Given the description of an element on the screen output the (x, y) to click on. 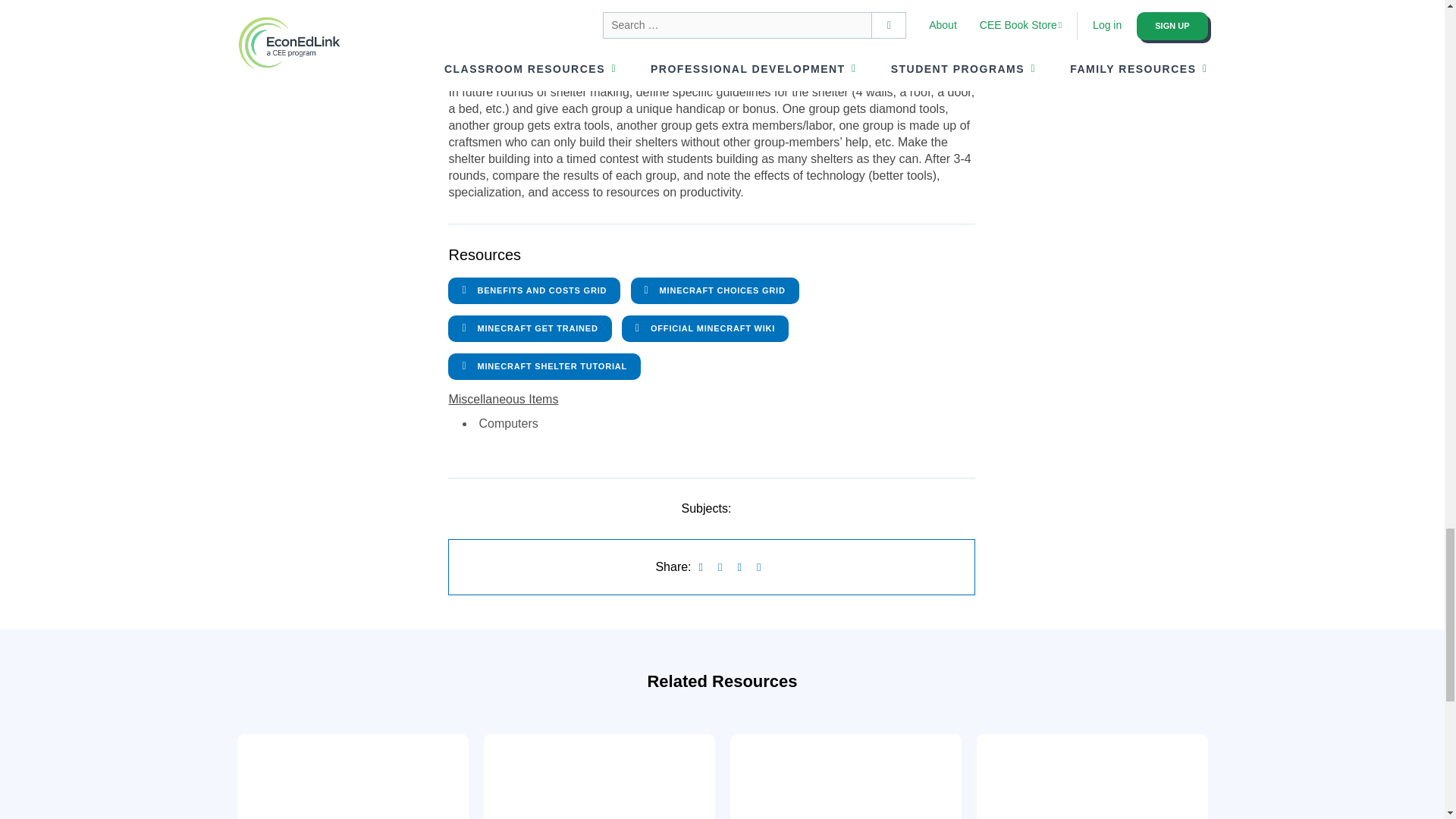
Should Private Companies Operate Prisons? (1092, 776)
Can We End Housing Insecurity? (598, 776)
Decision Making with "Sam and the Lucky Money" (844, 776)
